Given the description of an element on the screen output the (x, y) to click on. 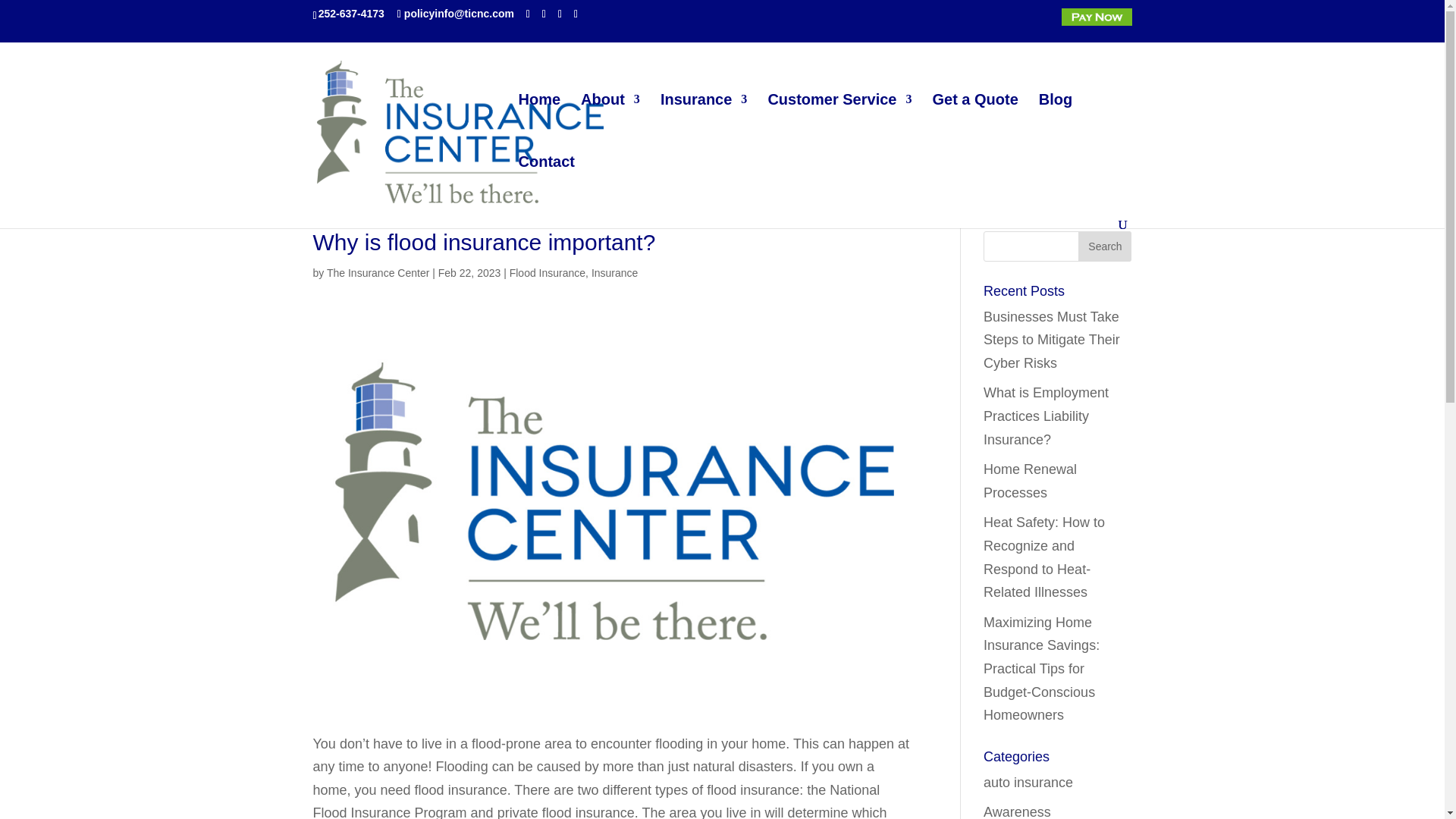
About (610, 125)
Posts by The Insurance Center (377, 272)
Insurance (703, 125)
Search (1104, 245)
Home (539, 125)
252-637-4173 (351, 13)
